Given the description of an element on the screen output the (x, y) to click on. 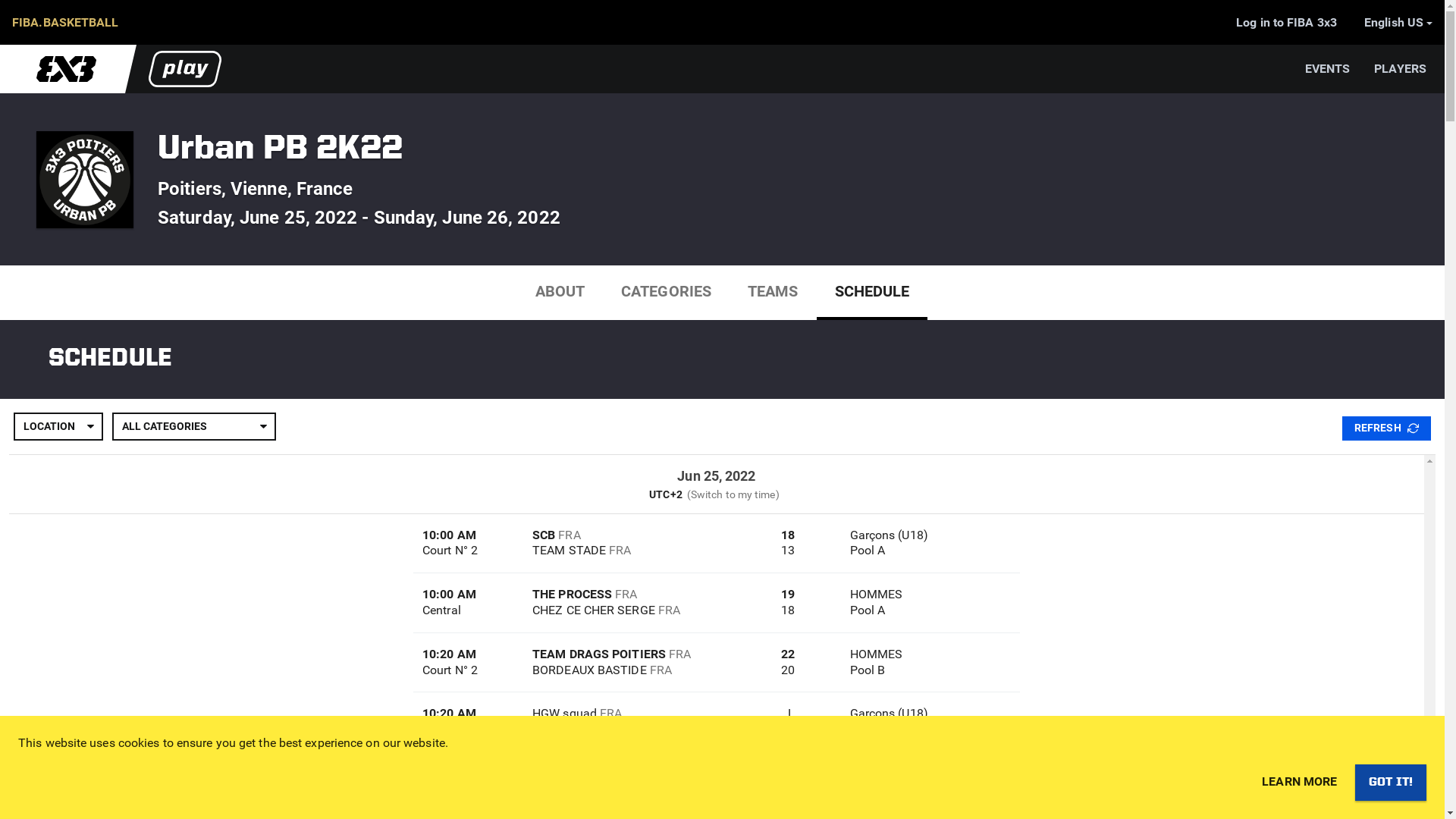
FIBA.BASKETBALL Element type: text (65, 22)
TEAMS Element type: text (772, 290)
REFRESH Element type: text (1386, 428)
ABOUT Element type: text (560, 290)
SCBFRA Element type: text (629, 535)
HGW squadFRA Element type: text (629, 713)
CHEZ CE CHER SERGEFRA Element type: text (629, 610)
TEAM STADEFRA Element type: text (629, 550)
Log in to FIBA 3x3 Element type: text (1286, 22)
THE PROCESSFRA Element type: text (629, 594)
BrotherhoodFRA Element type: text (629, 729)
English US Element type: text (1398, 22)
LEARN MORE Element type: text (1298, 781)
CATEGORIES Element type: text (665, 290)
BORDEAUX BASTIDEFRA Element type: text (629, 670)
minusFRA Element type: text (629, 789)
CEP 1FRA Element type: text (629, 773)
SCHEDULE Element type: text (872, 290)
GOT IT! Element type: text (1390, 782)
Skip to content. Element type: text (24, 12)
EVENTS Element type: text (1327, 68)
(Switch to my time) Element type: text (733, 494)
PLAYERS Element type: text (1400, 68)
TEAM DRAGS POITIERSFRA Element type: text (629, 654)
